Given the description of an element on the screen output the (x, y) to click on. 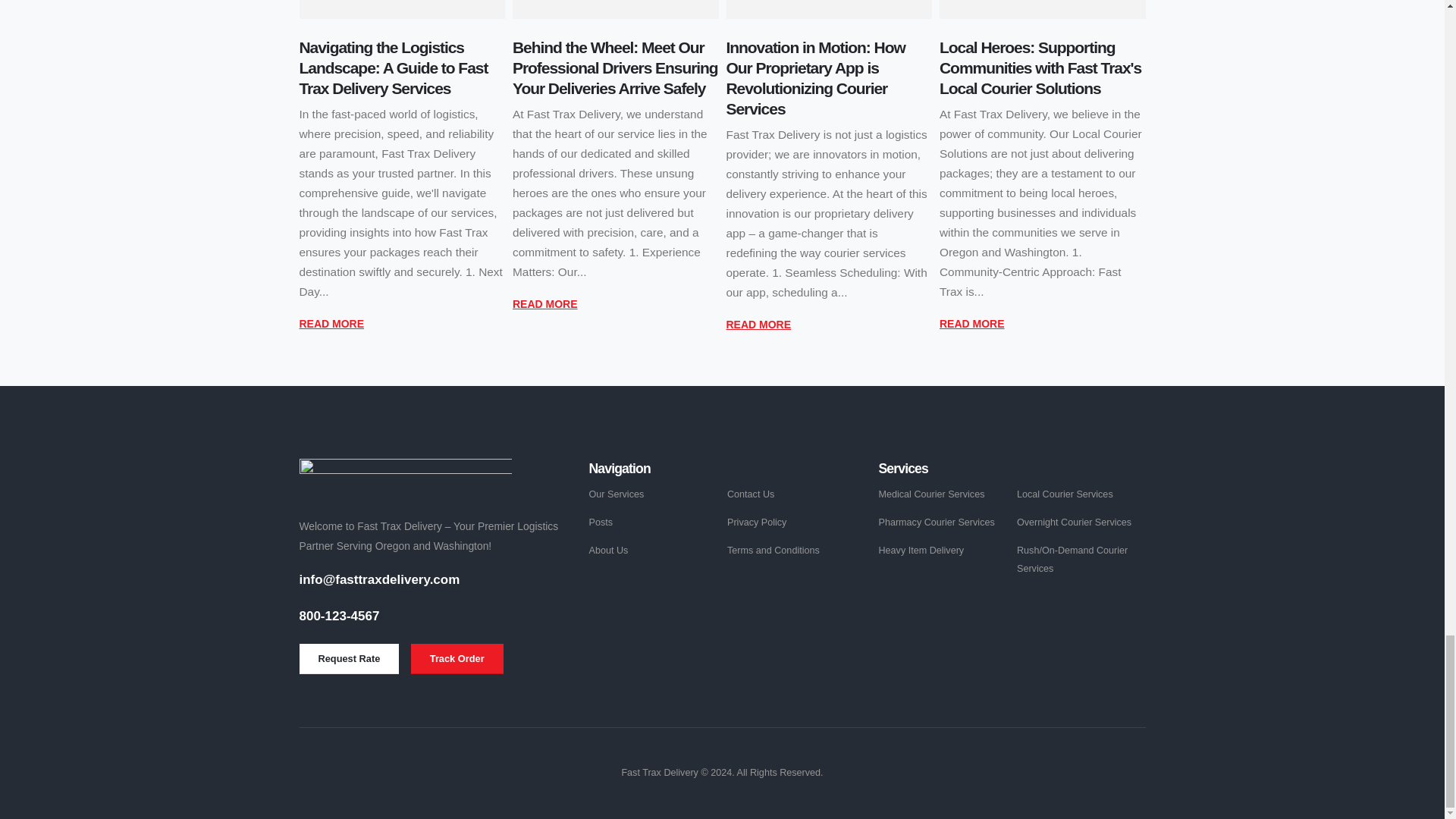
Request Rate (348, 658)
Contact Fast Trax Delivery (348, 658)
READ MORE (759, 324)
800-123-4567 (338, 616)
fasttraxdelivery-logo-white (404, 477)
READ MORE (971, 323)
READ MORE (545, 303)
About Us (607, 550)
